Given the description of an element on the screen output the (x, y) to click on. 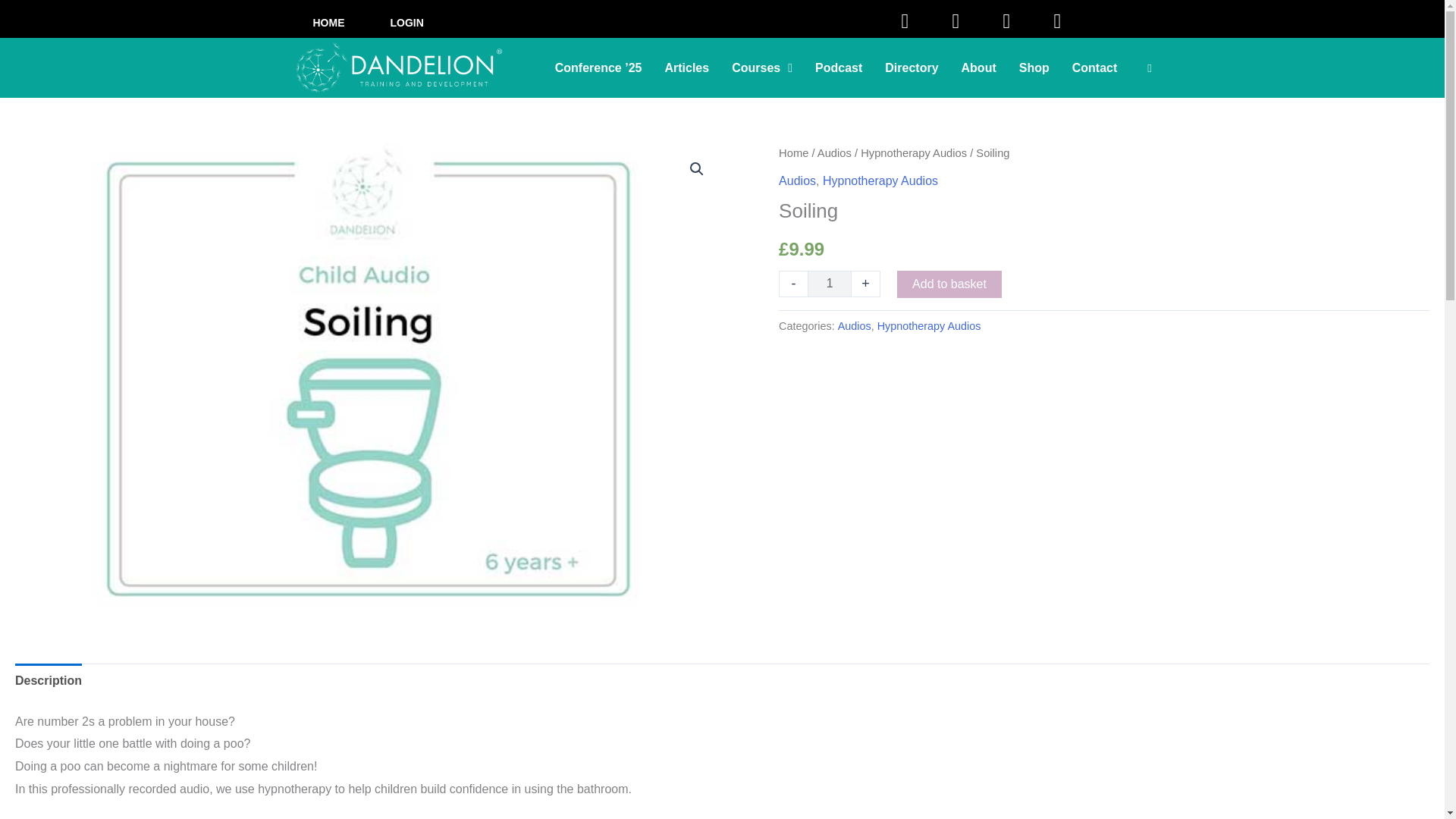
Podcast (838, 67)
Directory (911, 67)
Facebook-f (905, 21)
Linkedin-in (1005, 21)
Instagram (955, 21)
Courses (761, 67)
Contact (1095, 67)
1 (829, 284)
LOGIN (405, 22)
